Given the description of an element on the screen output the (x, y) to click on. 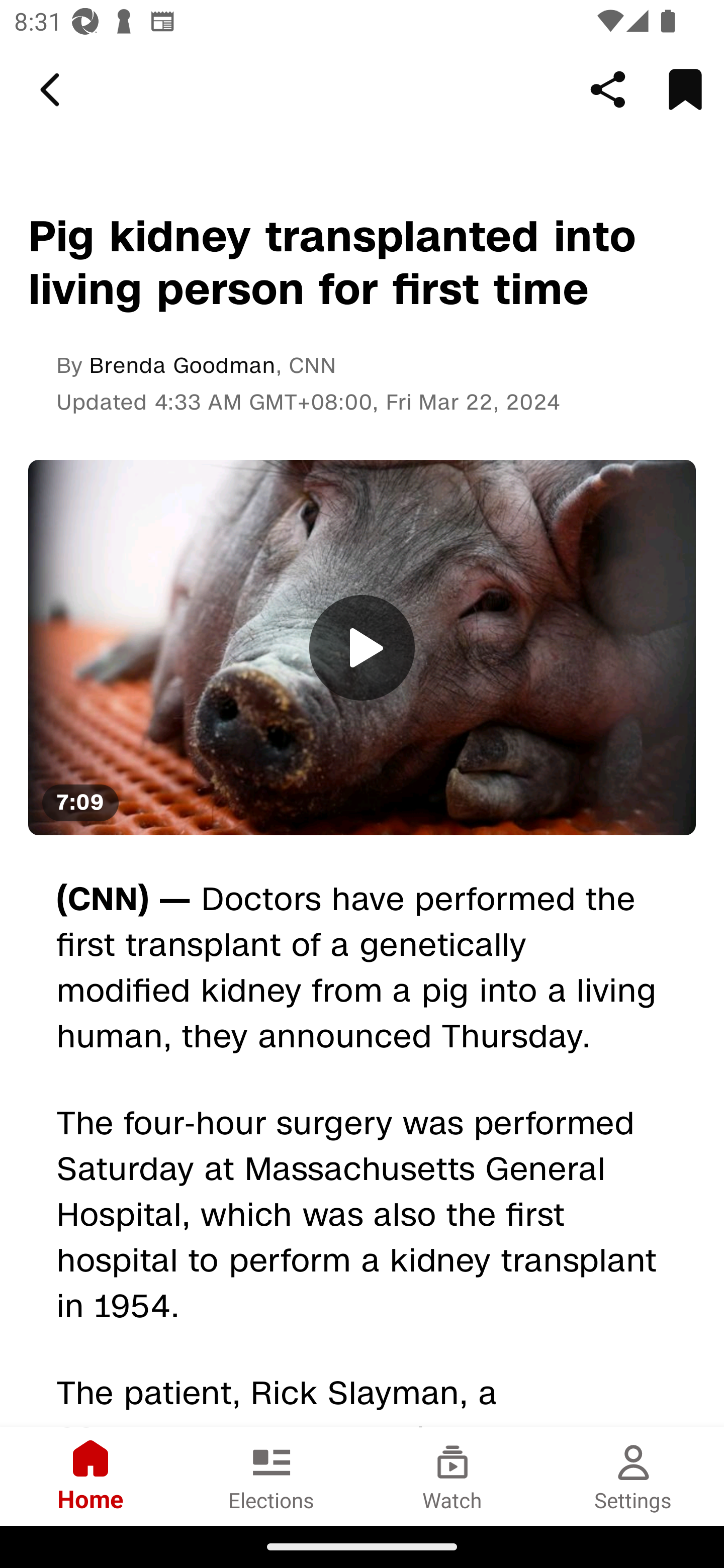
Back Button (52, 89)
Share (607, 89)
Bookmark (685, 89)
Elections (271, 1475)
Watch (452, 1475)
Settings (633, 1475)
